Given the description of an element on the screen output the (x, y) to click on. 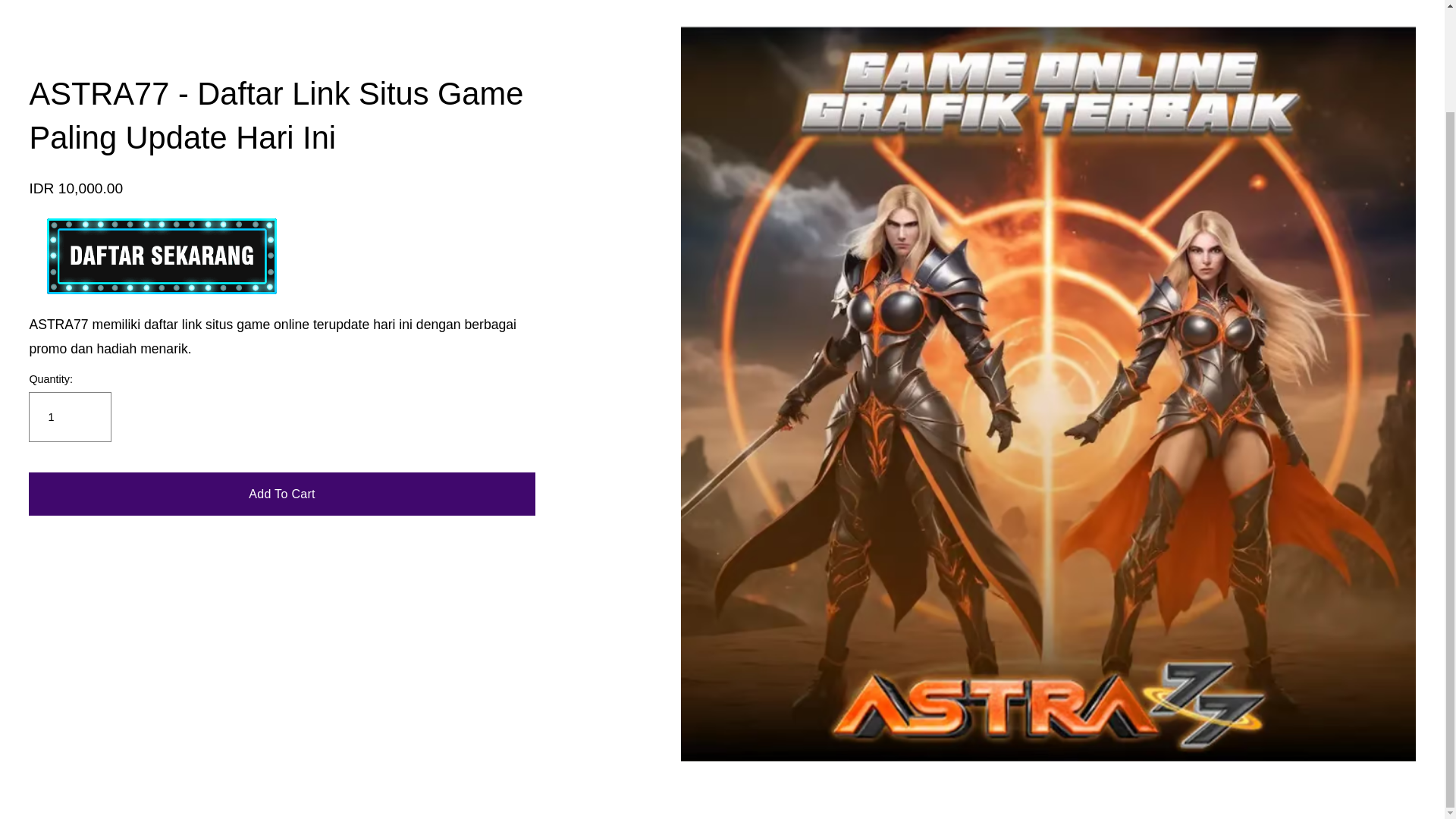
1 (70, 417)
